Given the description of an element on the screen output the (x, y) to click on. 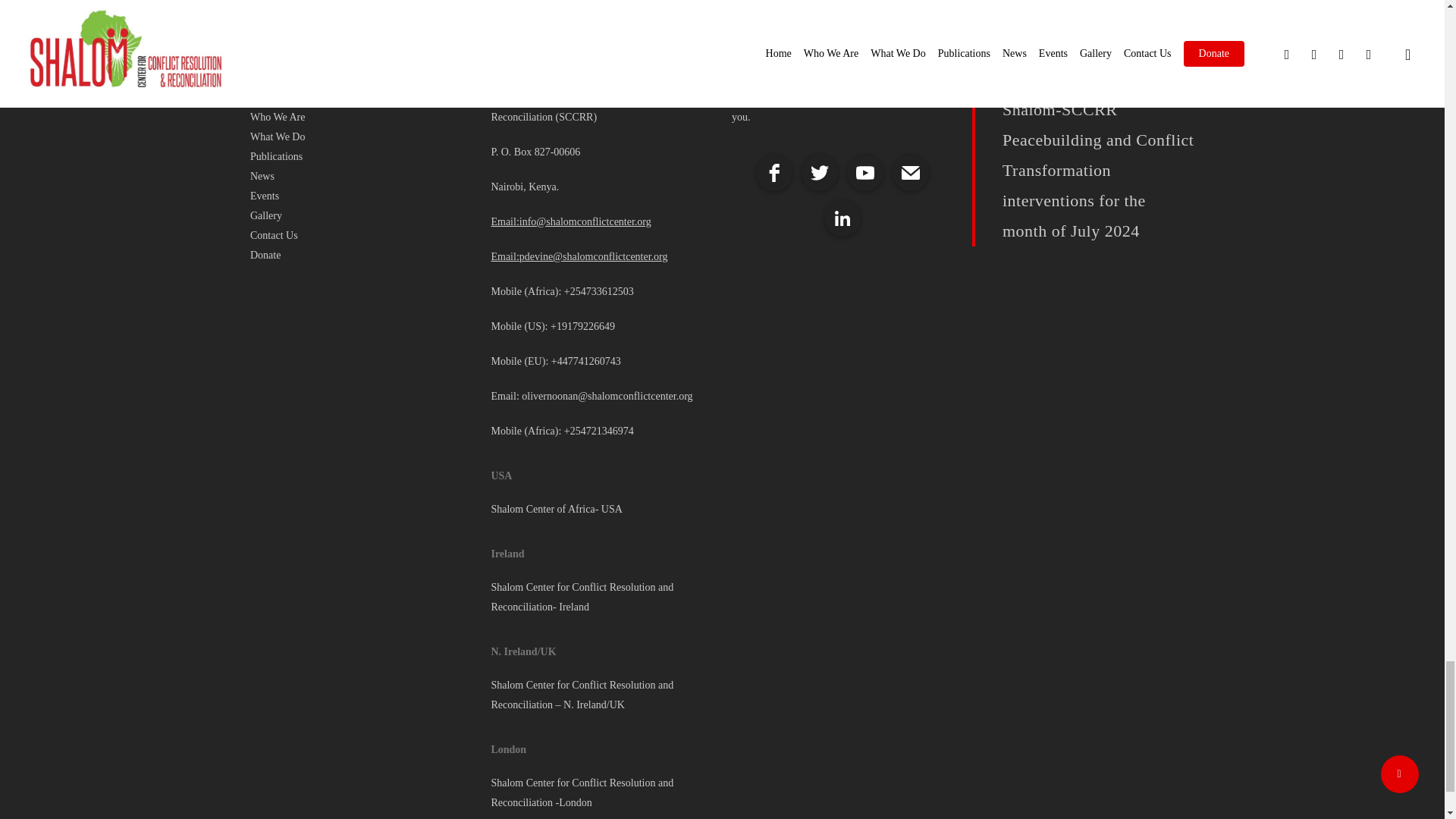
Donate (360, 255)
What We Do (360, 137)
News (360, 176)
Contact Us (360, 235)
Gallery (360, 216)
Events (360, 196)
Who We Are (360, 117)
Email: (504, 221)
Home (360, 97)
Publications (360, 157)
